Given the description of an element on the screen output the (x, y) to click on. 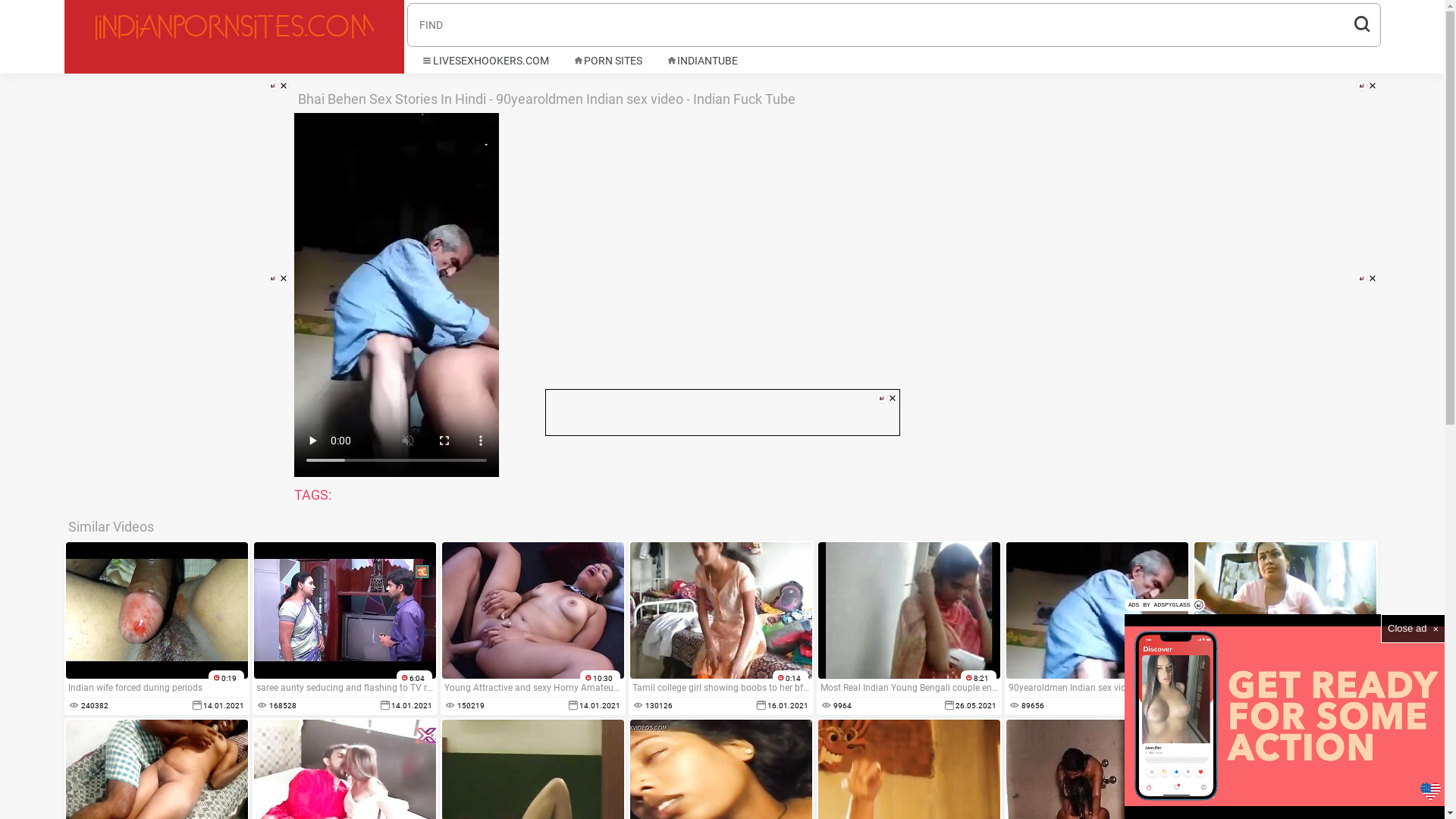
ADS BY ADSPYGLASS Element type: text (1164, 605)
3:02
90yearoldmen Indian sex video
89656
16.01.2021 Element type: text (1096, 627)
0:19
Indian wife forced during periods
240382
14.01.2021 Element type: text (156, 627)
INDIANTUBE Element type: text (702, 61)
LIVESEXHOOKERS.COM Element type: text (484, 61)
PORN SITES Element type: text (608, 61)
